Given the description of an element on the screen output the (x, y) to click on. 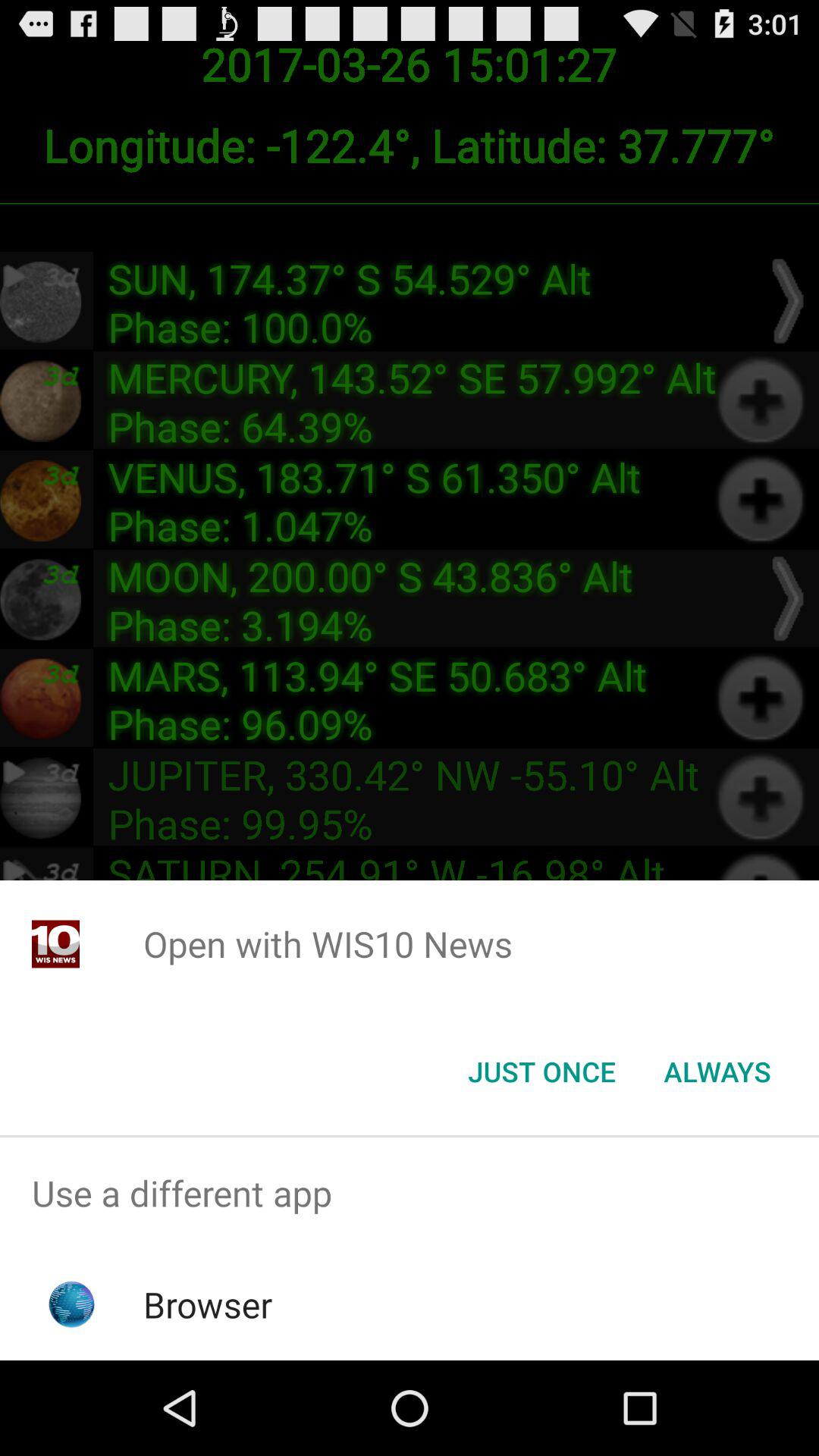
turn on use a different icon (409, 1192)
